Given the description of an element on the screen output the (x, y) to click on. 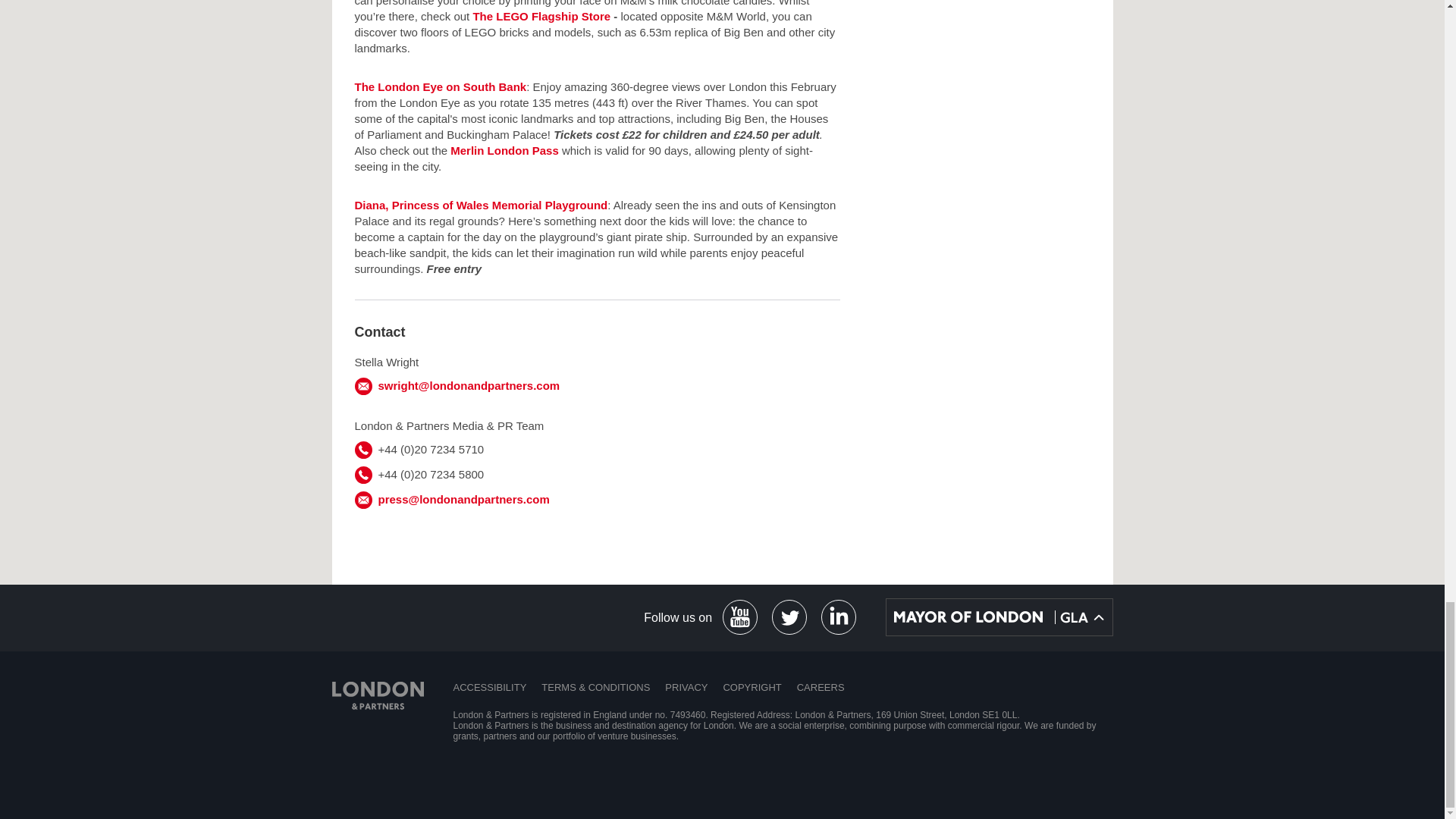
The LEGO Flagship Store (540, 15)
The London Eye on South Bank (441, 86)
Merlin London Pass (504, 150)
Diana, Princess of Wales Memorial Playground (481, 205)
